Given the description of an element on the screen output the (x, y) to click on. 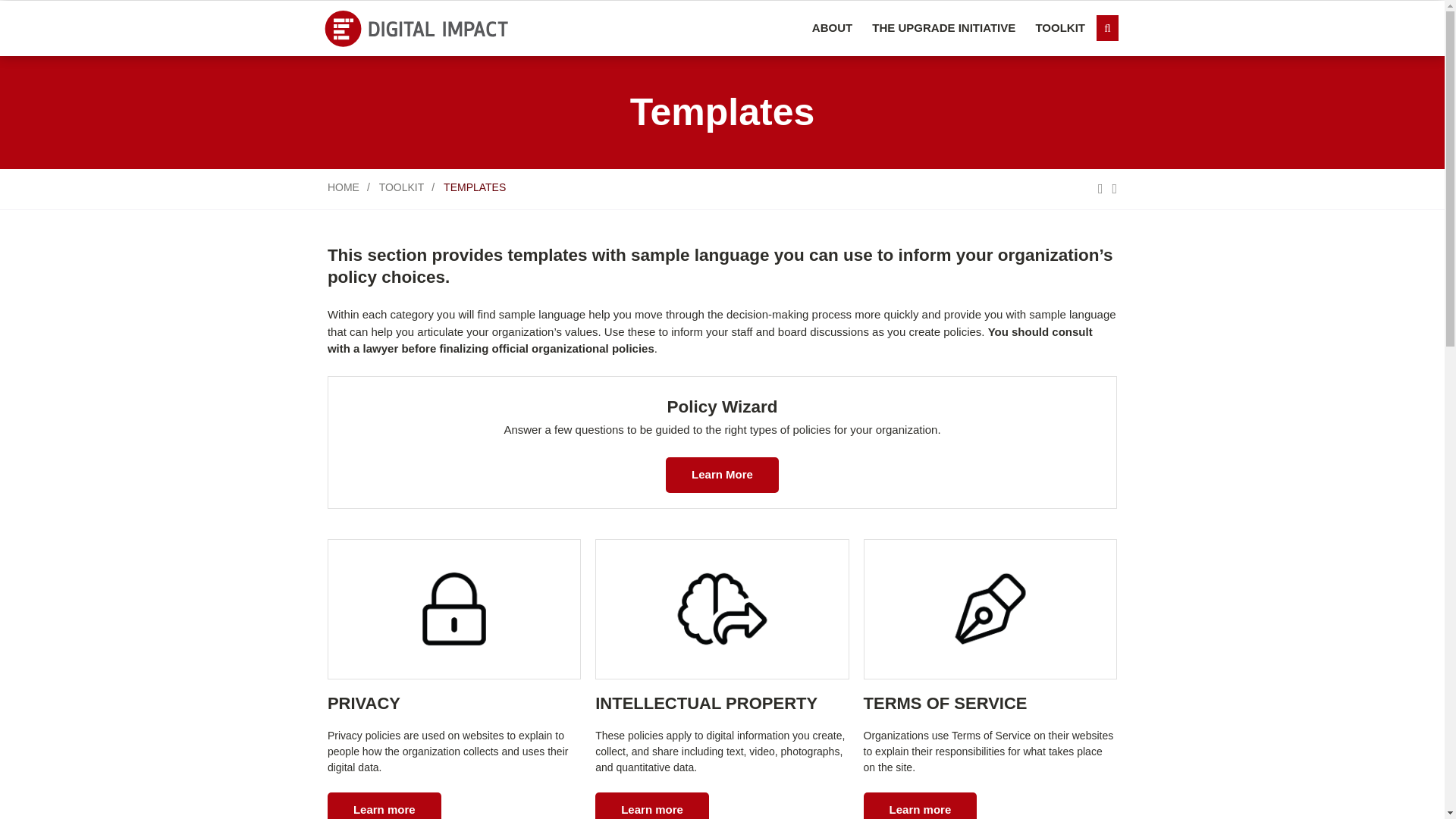
ABOUT (831, 27)
